Given the description of an element on the screen output the (x, y) to click on. 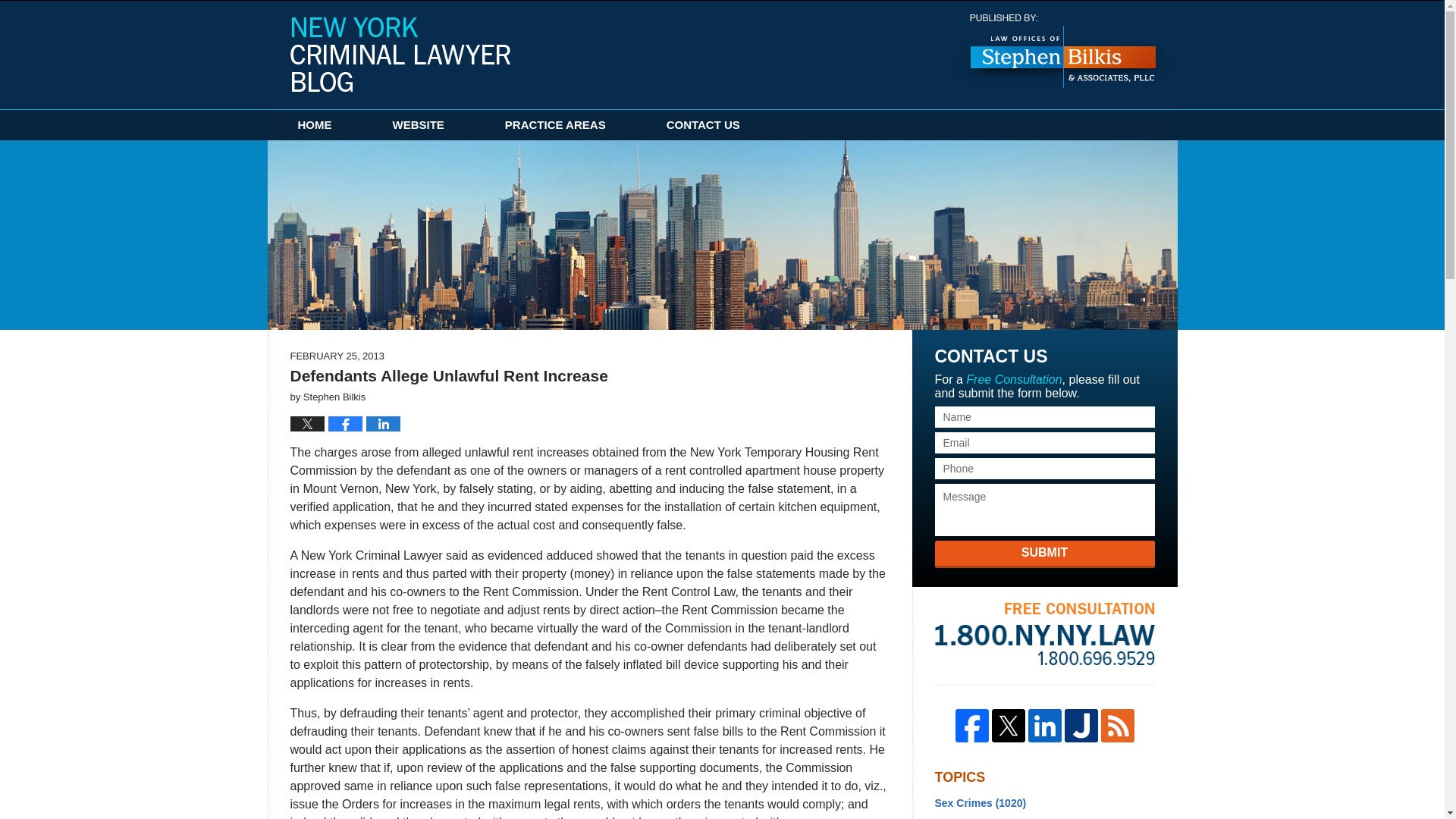
Twitter (1008, 725)
Feed (1117, 725)
LinkedIn (1044, 725)
HOME (313, 124)
Justia (1080, 725)
SUBMIT (1044, 554)
Please enter a valid phone number. (1044, 468)
New York Criminal Lawyer Blog (399, 54)
CONTACT US (703, 124)
PRACTICE AREAS (555, 124)
Facebook (971, 725)
WEBSITE (418, 124)
